Given the description of an element on the screen output the (x, y) to click on. 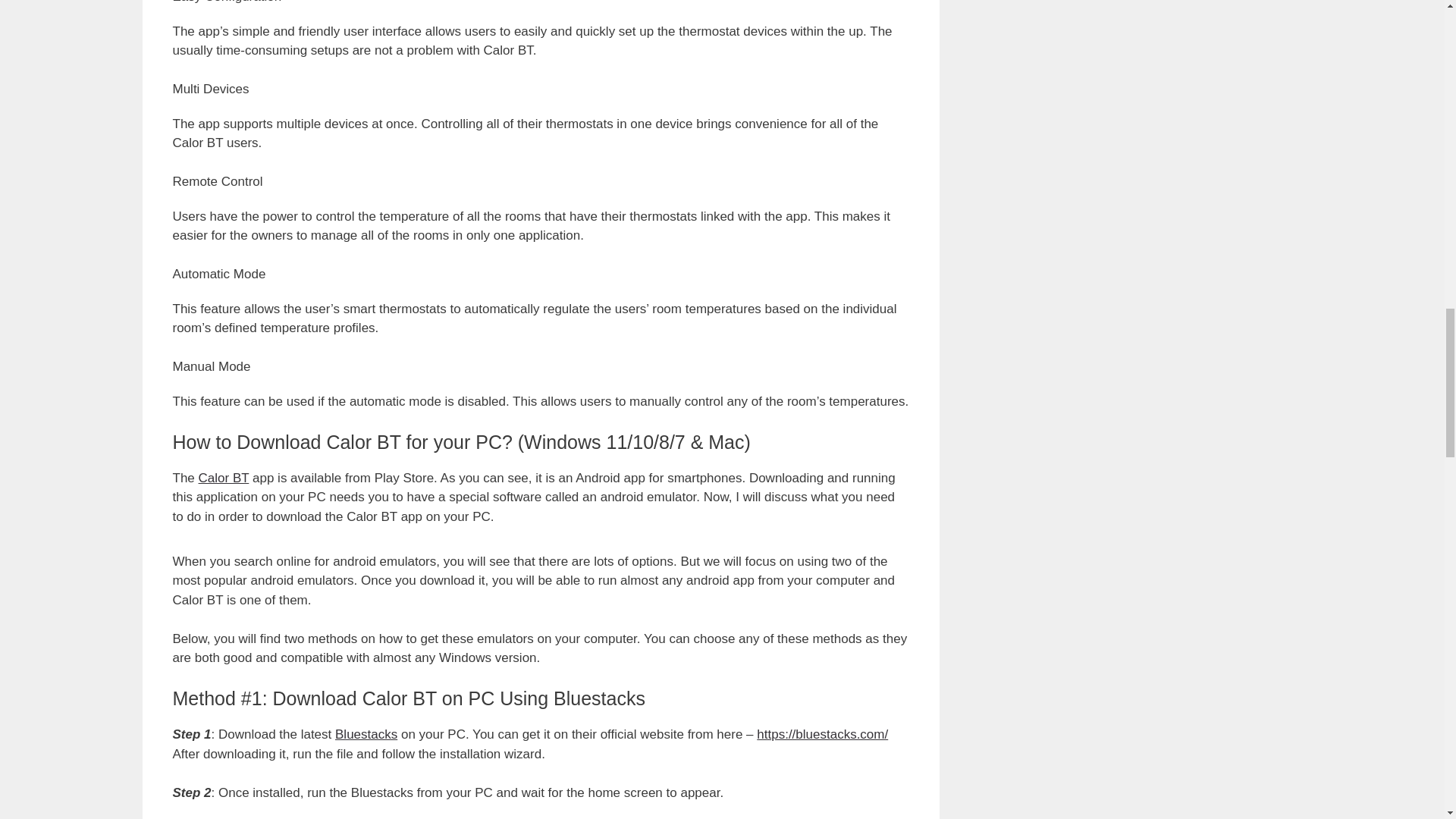
Calor BT (223, 477)
Bluestacks (365, 734)
